Given the description of an element on the screen output the (x, y) to click on. 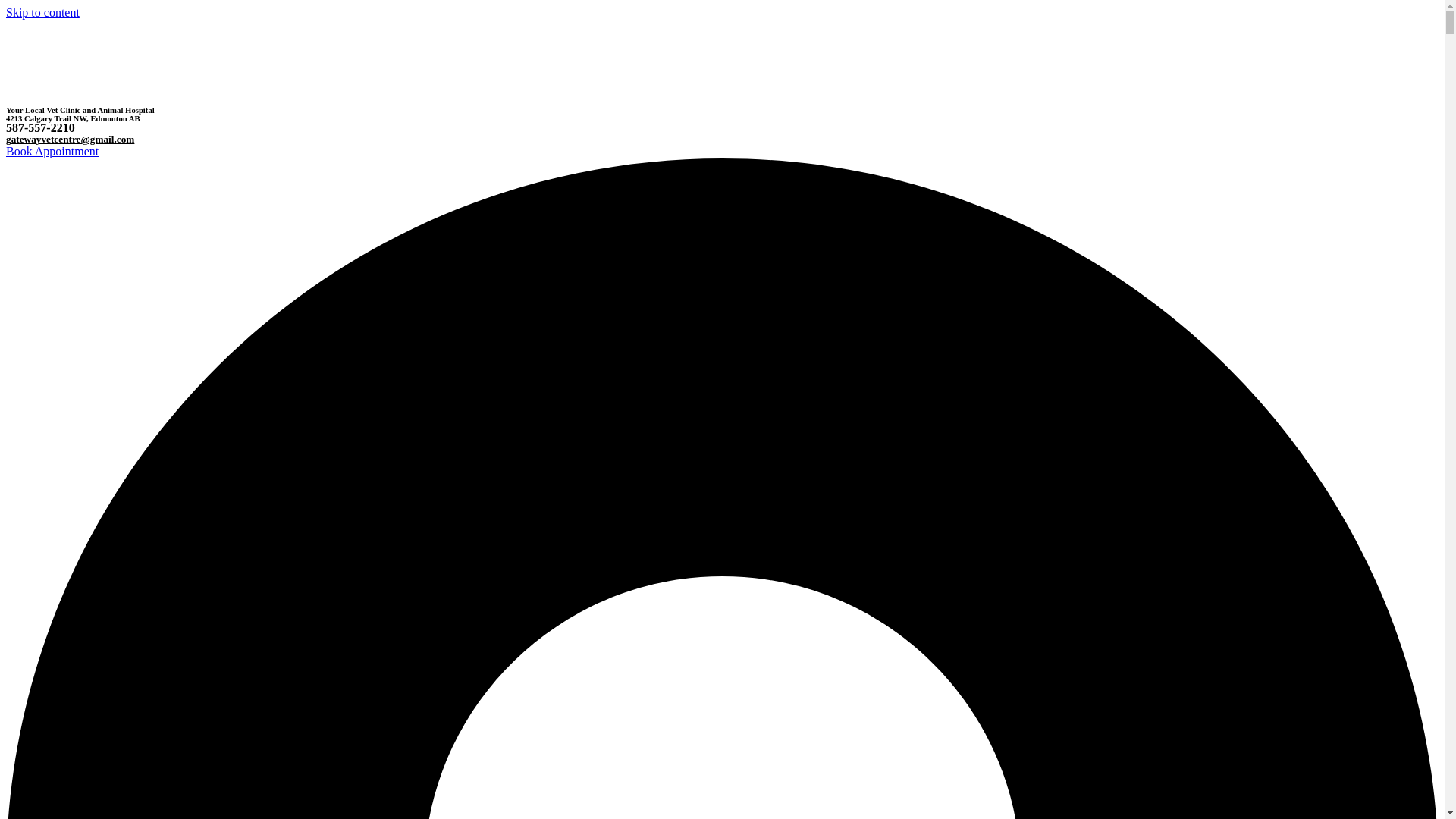
587-557-2210 (40, 127)
Skip to content (42, 11)
Book Appointment (52, 151)
